Given the description of an element on the screen output the (x, y) to click on. 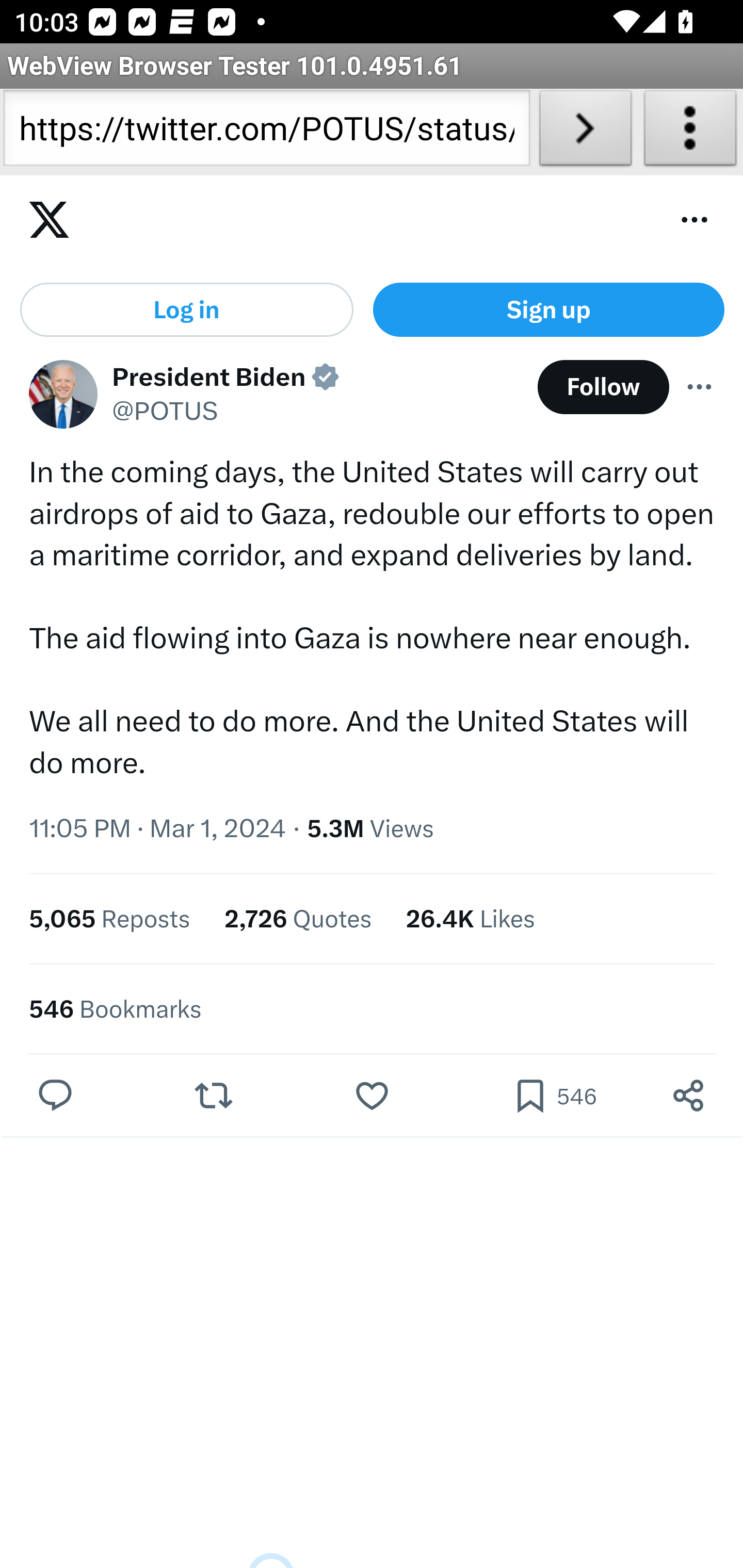
Load URL (585, 132)
About WebView (690, 132)
POTUS (63, 395)
Follow @POTUS (602, 388)
More (699, 388)
@POTUS (165, 413)
11:05 PM · Mar 1, 2024 (157, 829)
5,065 Reposts 5,065   Reposts (109, 920)
2,726 Quotes 2,726   Quotes (298, 920)
26.4K Likes 26.4K   Likes (470, 920)
Reply (55, 1097)
Repost (212, 1097)
Like (371, 1097)
546 Bookmarks. Bookmark (554, 1097)
Share post (688, 1097)
